Given the description of an element on the screen output the (x, y) to click on. 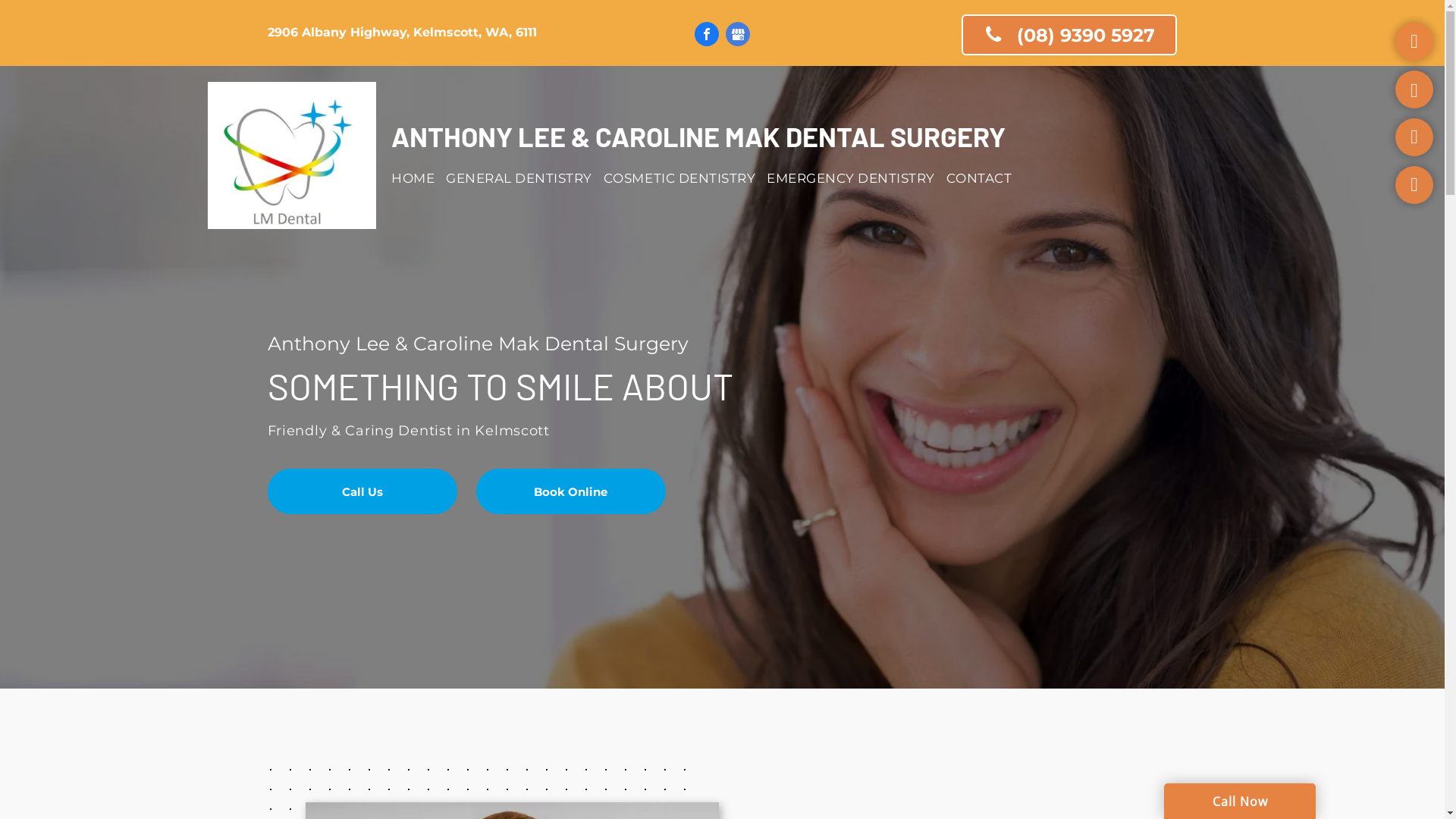
Lee & Mak Dental Surgery Element type: hover (291, 155)
Call Us Element type: text (361, 491)
Book Online Element type: text (570, 491)
2906 Albany Highway, Kelmscott, WA, 6111 Element type: text (401, 32)
CONTACT Element type: text (984, 178)
(08) 9390 5927 Element type: text (1068, 34)
EMERGENCY DENTISTRY Element type: text (856, 178)
HOME Element type: text (418, 178)
GENERAL DENTISTRY Element type: text (524, 178)
COSMETIC DENTISTRY Element type: text (684, 178)
